Given the description of an element on the screen output the (x, y) to click on. 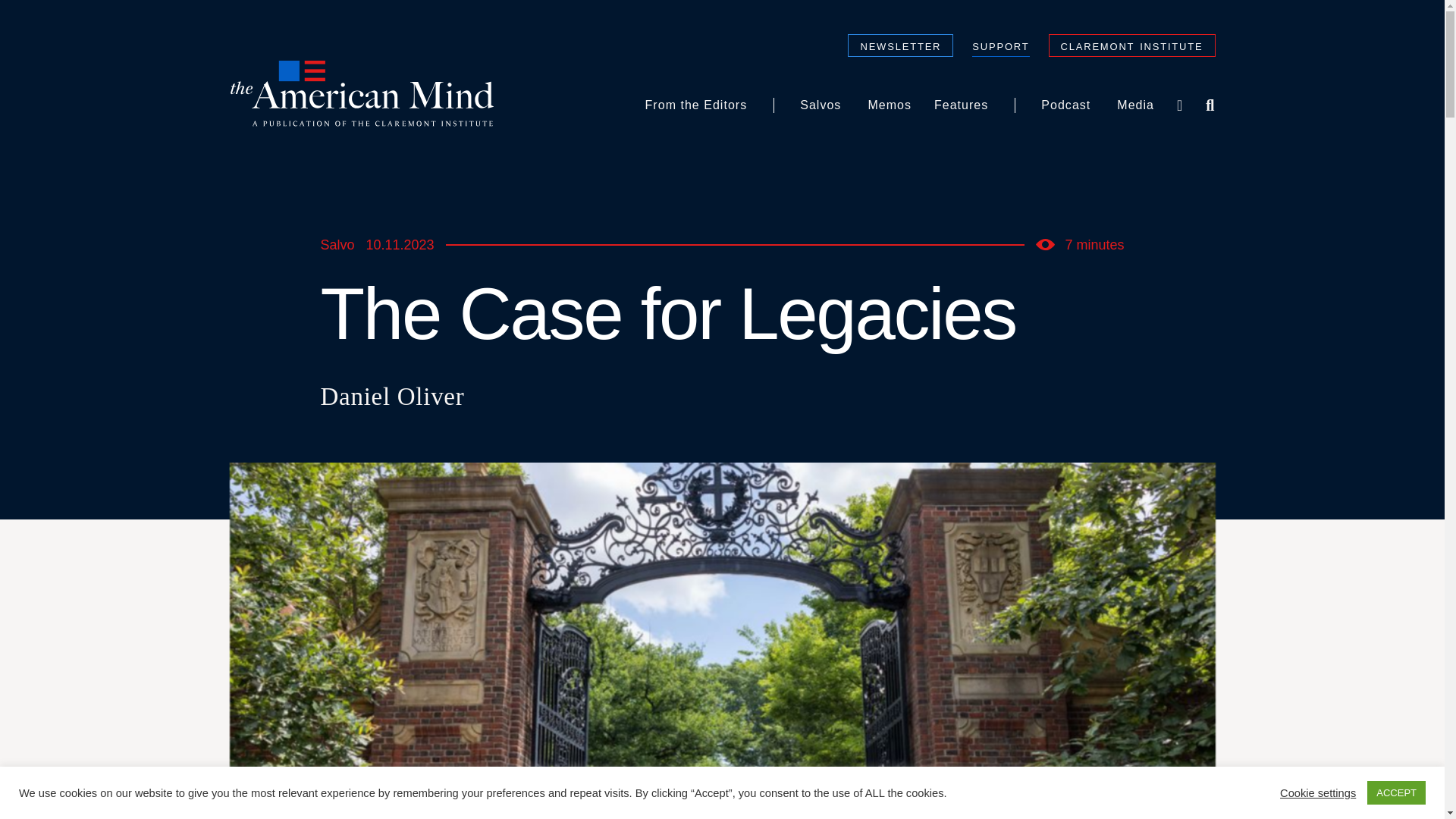
Posts by Daniel Oliver (392, 396)
newsletter (900, 45)
Salvos (820, 105)
From the Editors (696, 105)
Features (960, 105)
support (1000, 47)
claremont institute (1131, 45)
Daniel Oliver (392, 396)
Podcast (1065, 105)
Memos (889, 105)
